Given the description of an element on the screen output the (x, y) to click on. 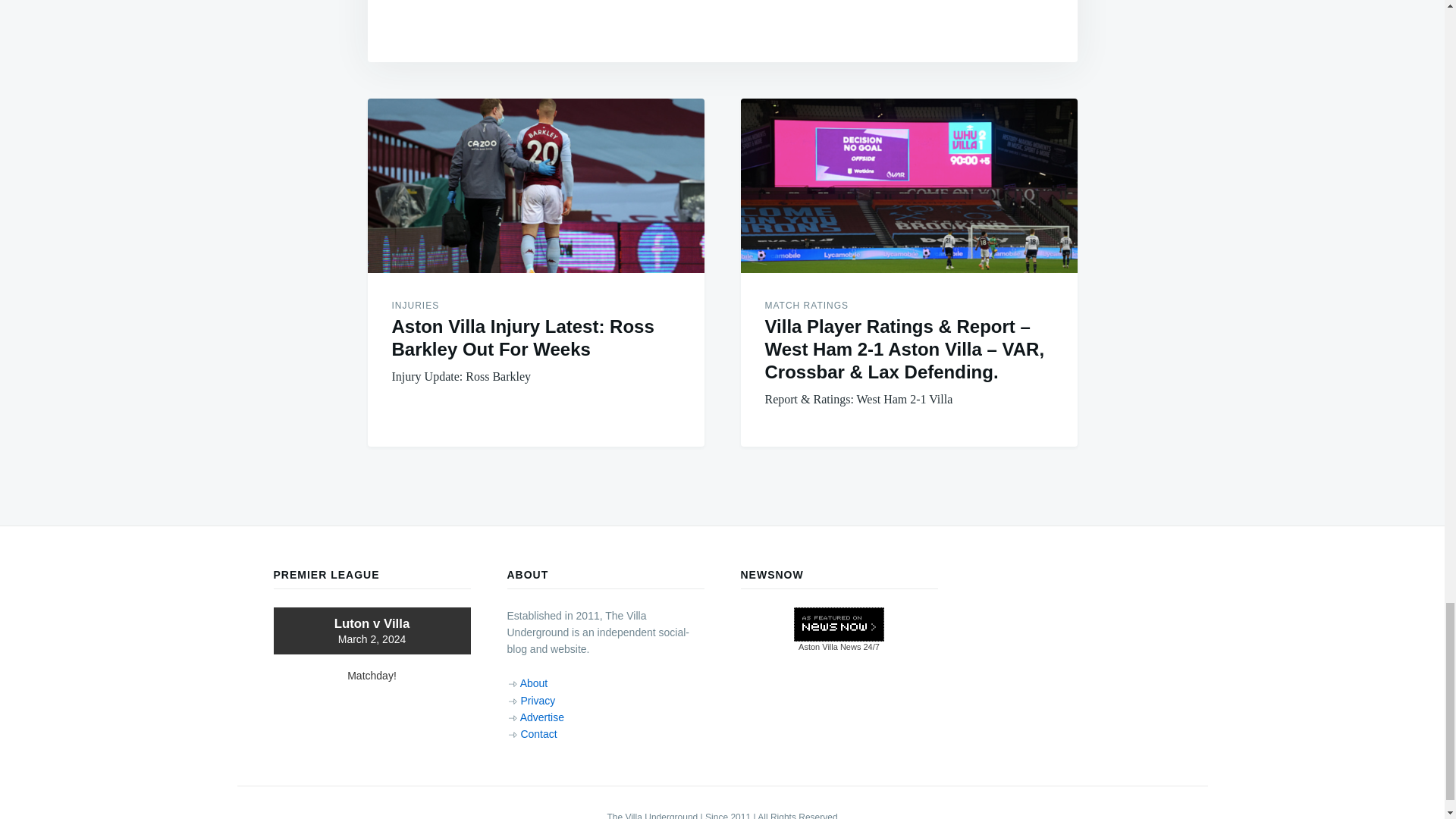
Aston Villa Injury Latest: Ross Barkley Out For Weeks (534, 185)
